Given the description of an element on the screen output the (x, y) to click on. 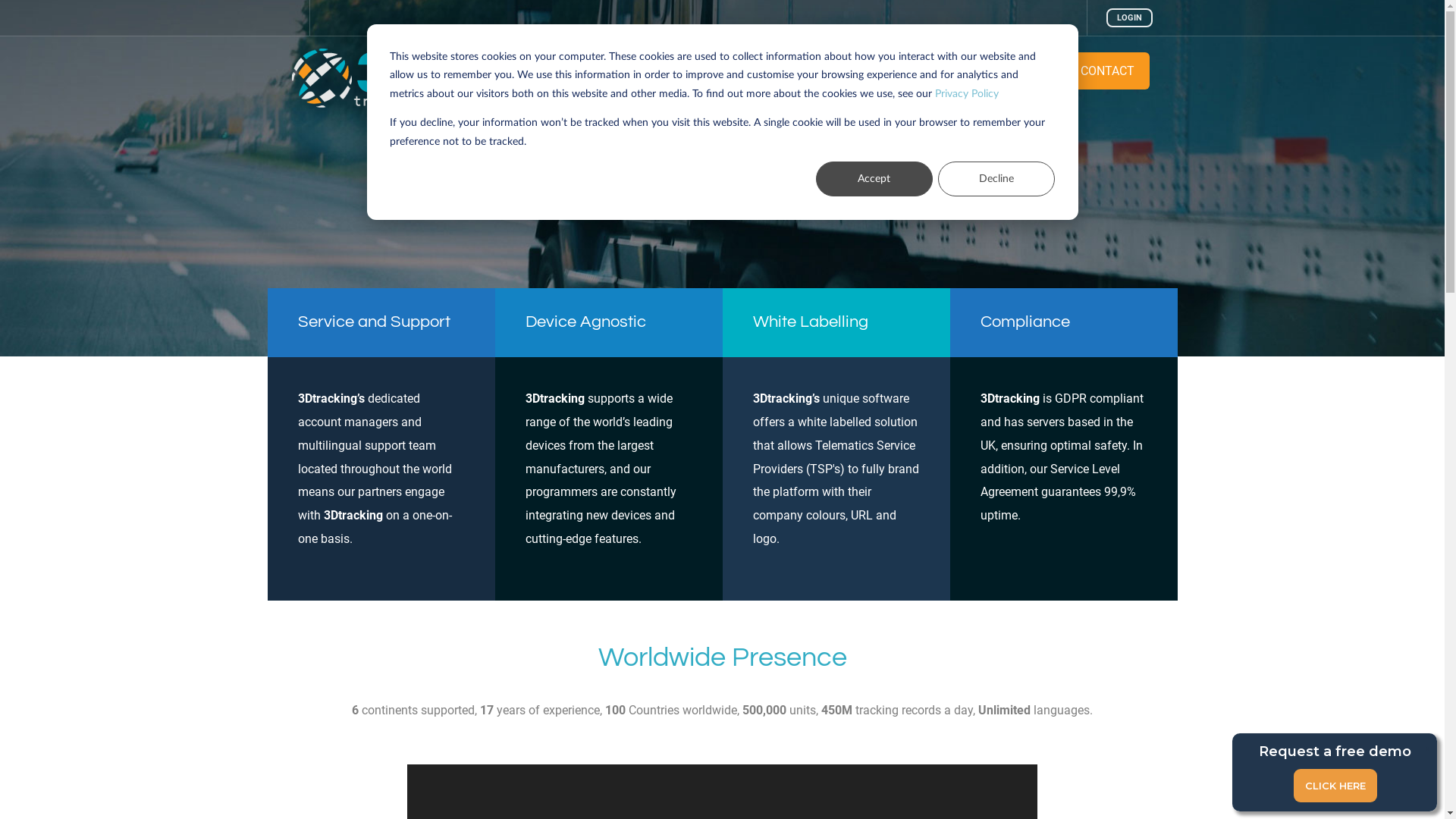
LOGIN Element type: text (1128, 17)
Privacy Policy Element type: text (966, 93)
Accept Element type: text (873, 178)
Decline Element type: text (996, 178)
Home Element type: text (615, 71)
Features Element type: text (819, 71)
CONTACT Element type: text (1106, 70)
English Element type: text (542, 71)
About Us Element type: text (1021, 71)
Partner/TSP Offering Element type: text (711, 71)
Industry Solutions Element type: text (919, 71)
